Given the description of an element on the screen output the (x, y) to click on. 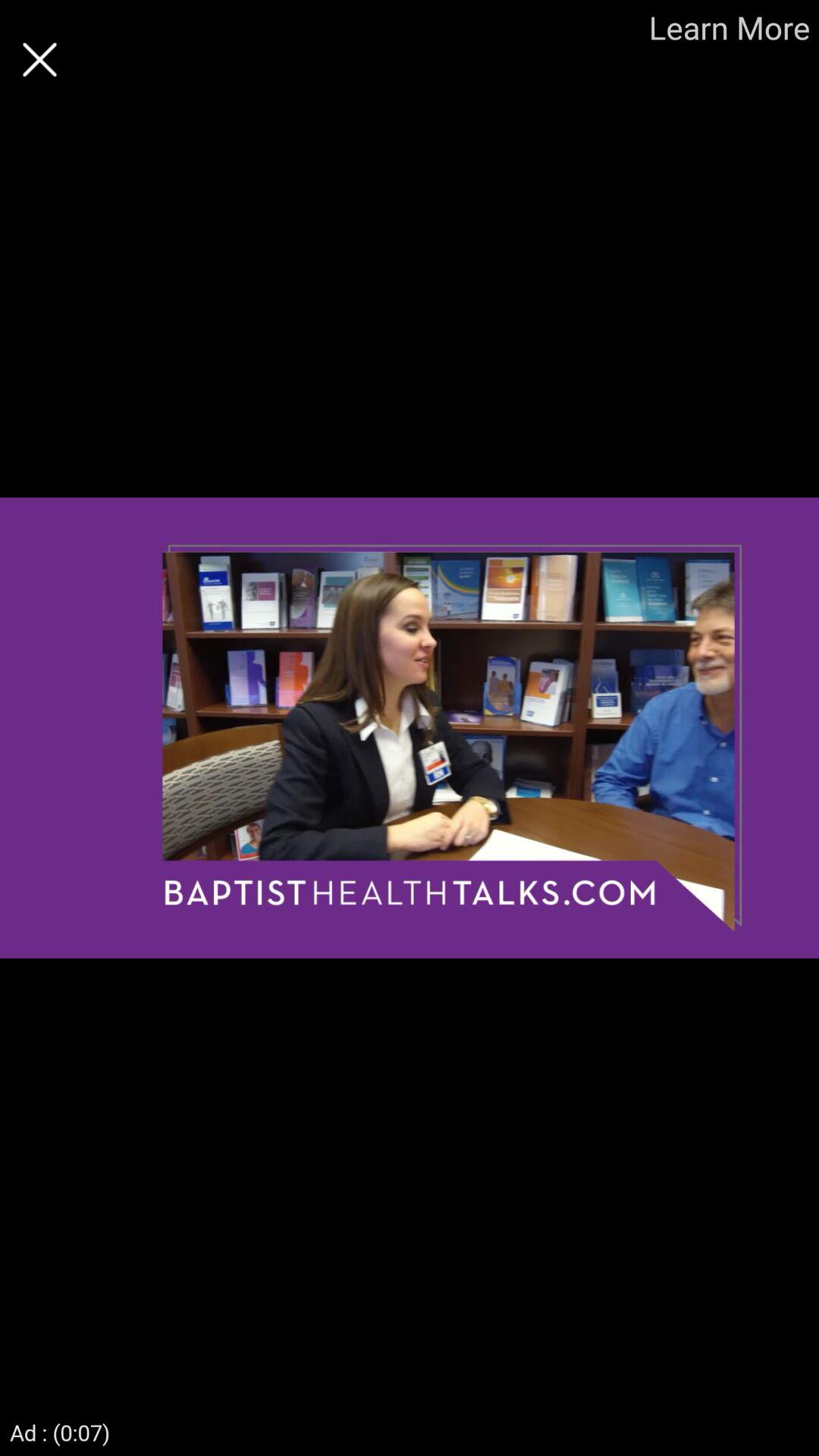
go to option (39, 59)
